Given the description of an element on the screen output the (x, y) to click on. 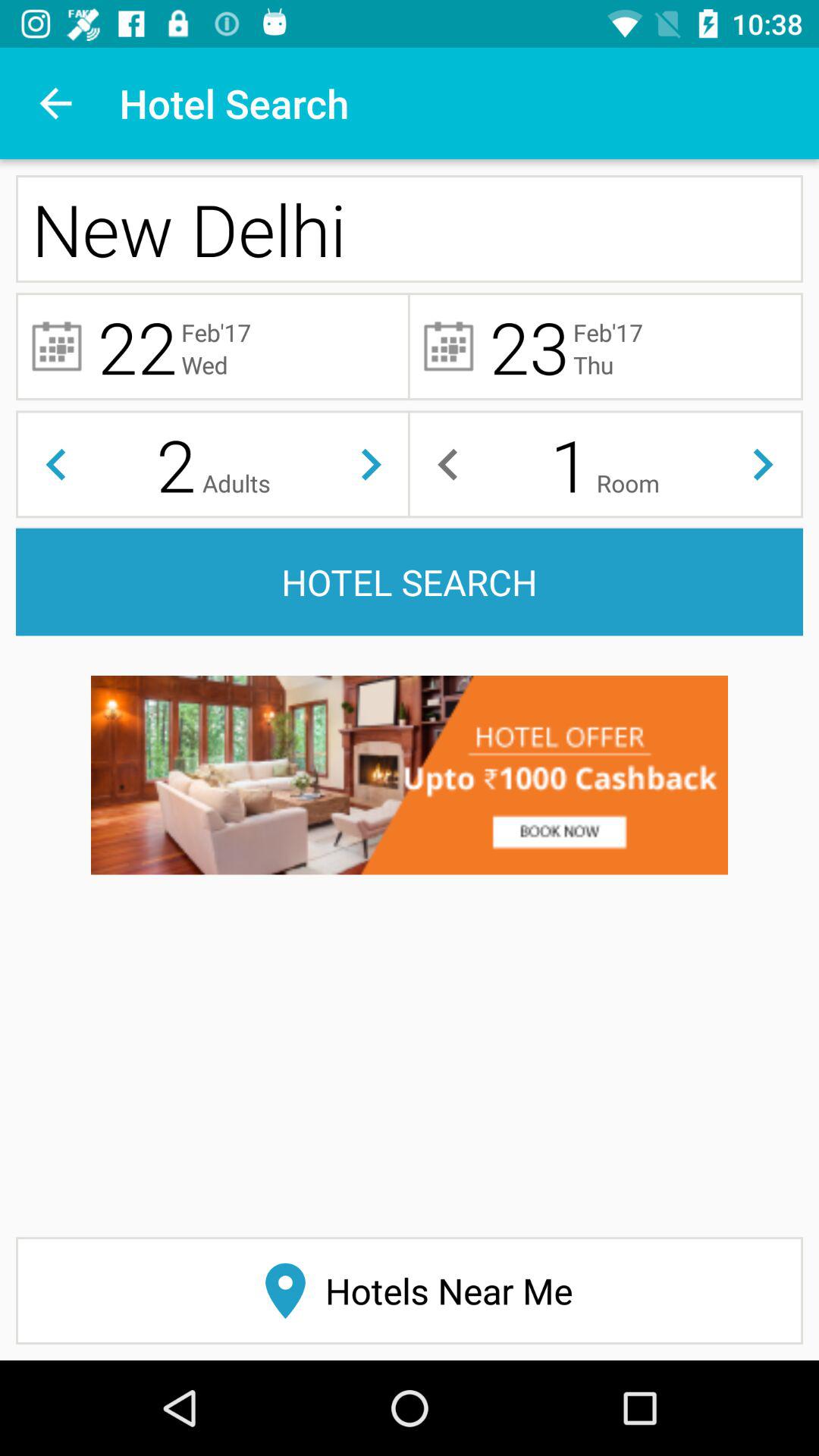
before (447, 464)
